Given the description of an element on the screen output the (x, y) to click on. 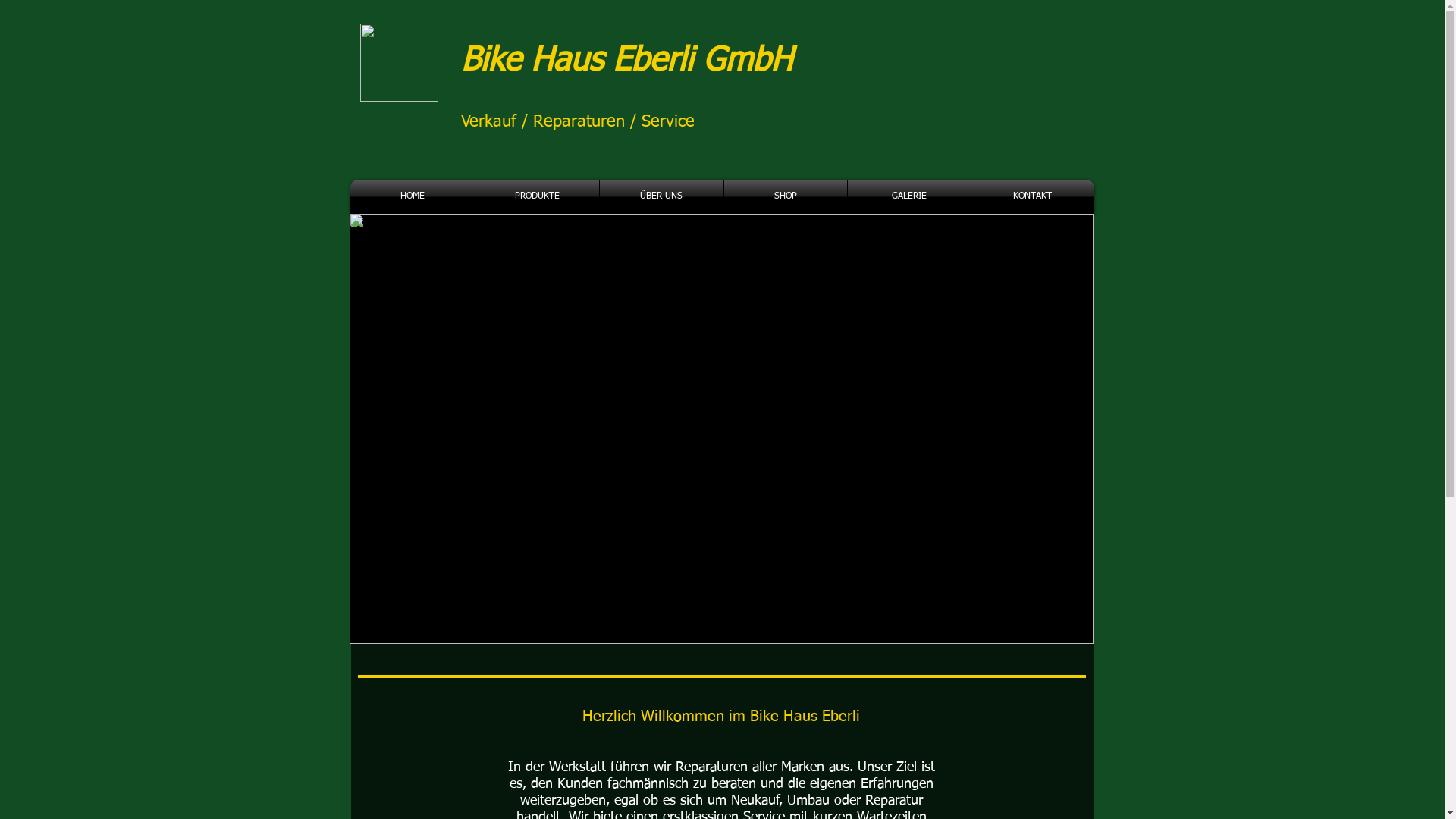
SHOP Element type: text (784, 196)
Bike Haus Eberli GmbH Element type: text (626, 60)
HOME Element type: text (412, 196)
GALERIE Element type: text (908, 196)
KONTAKT Element type: text (1031, 196)
